Given the description of an element on the screen output the (x, y) to click on. 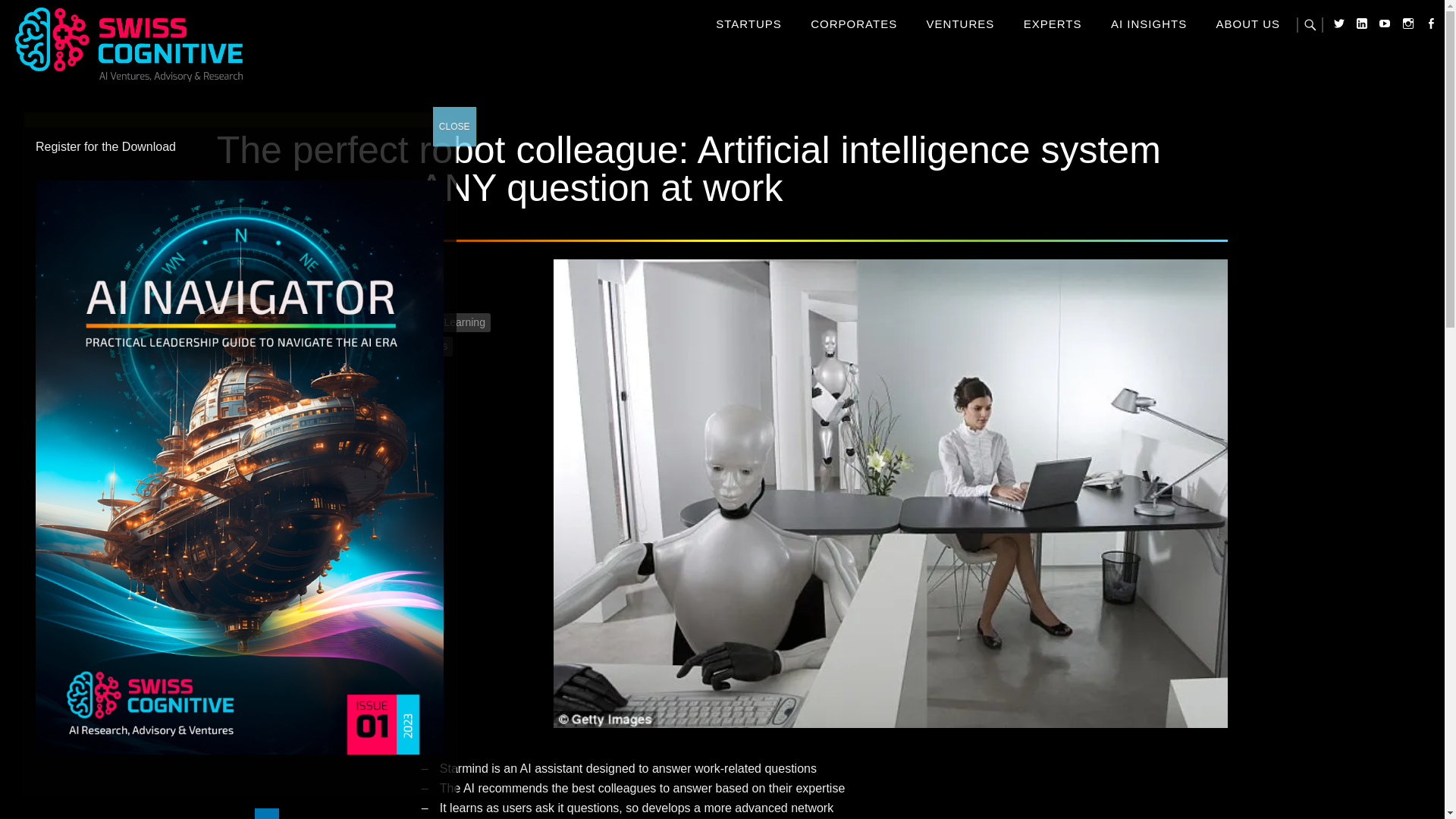
EXPERTS (1052, 23)
Instagram (1393, 4)
ABOUT US (1247, 23)
YouTube (1369, 4)
CORPORATES (853, 23)
Twitter (1323, 4)
STARTUPS (748, 23)
Click to share on LinkedIn (266, 813)
VENTURES (960, 23)
AI INSIGHTS (1148, 23)
Facebook (1415, 4)
LinkedIn (1346, 4)
